Given the description of an element on the screen output the (x, y) to click on. 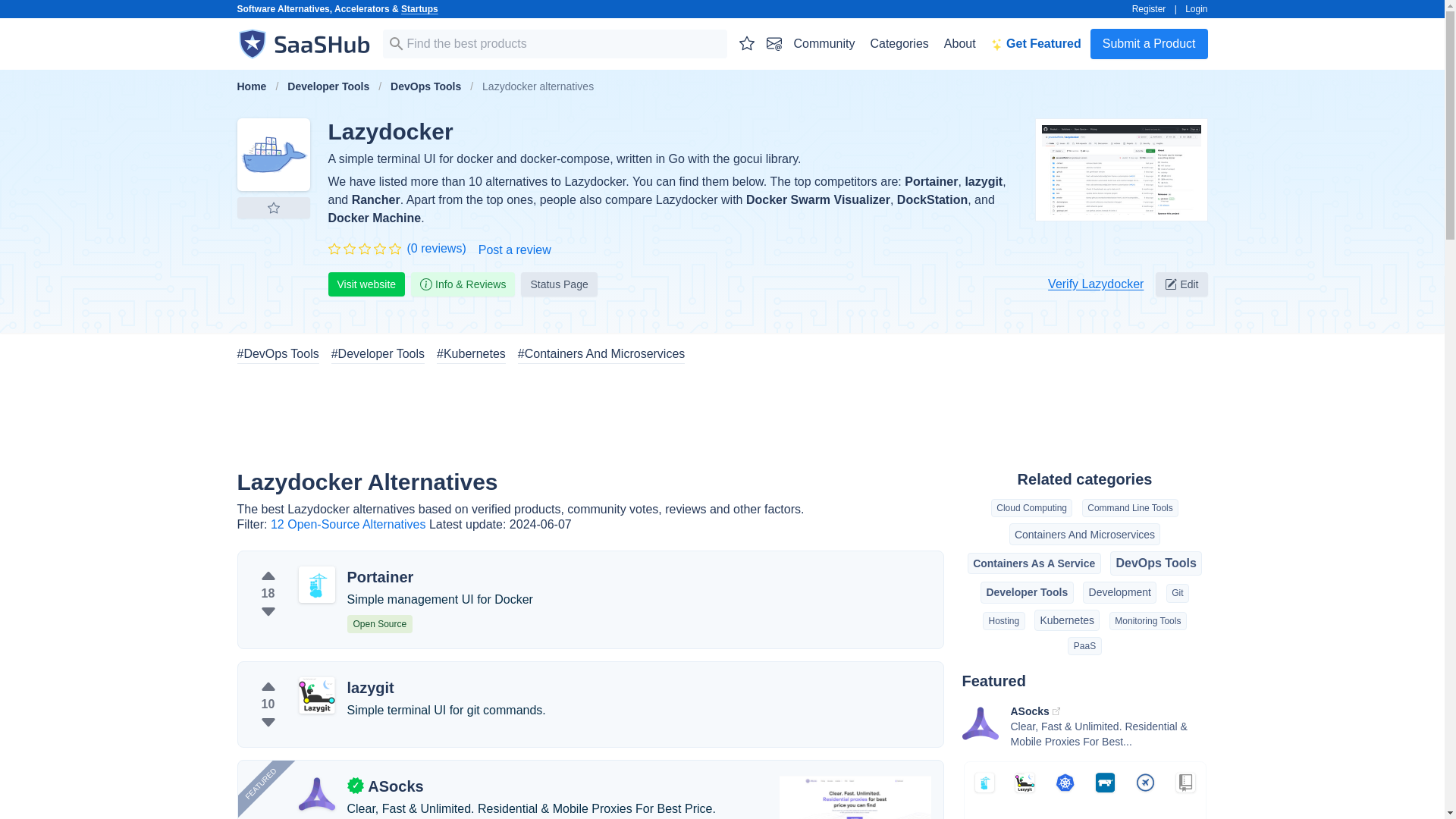
Get Featured (1036, 43)
Login (1196, 9)
Lazydocker status (558, 283)
Docker Machine (373, 217)
Register (1149, 9)
All Lazydocker reviews (435, 248)
lazygit alternatives (316, 695)
Rancher (376, 199)
Edit (1181, 283)
Developer Tools (328, 86)
